Given the description of an element on the screen output the (x, y) to click on. 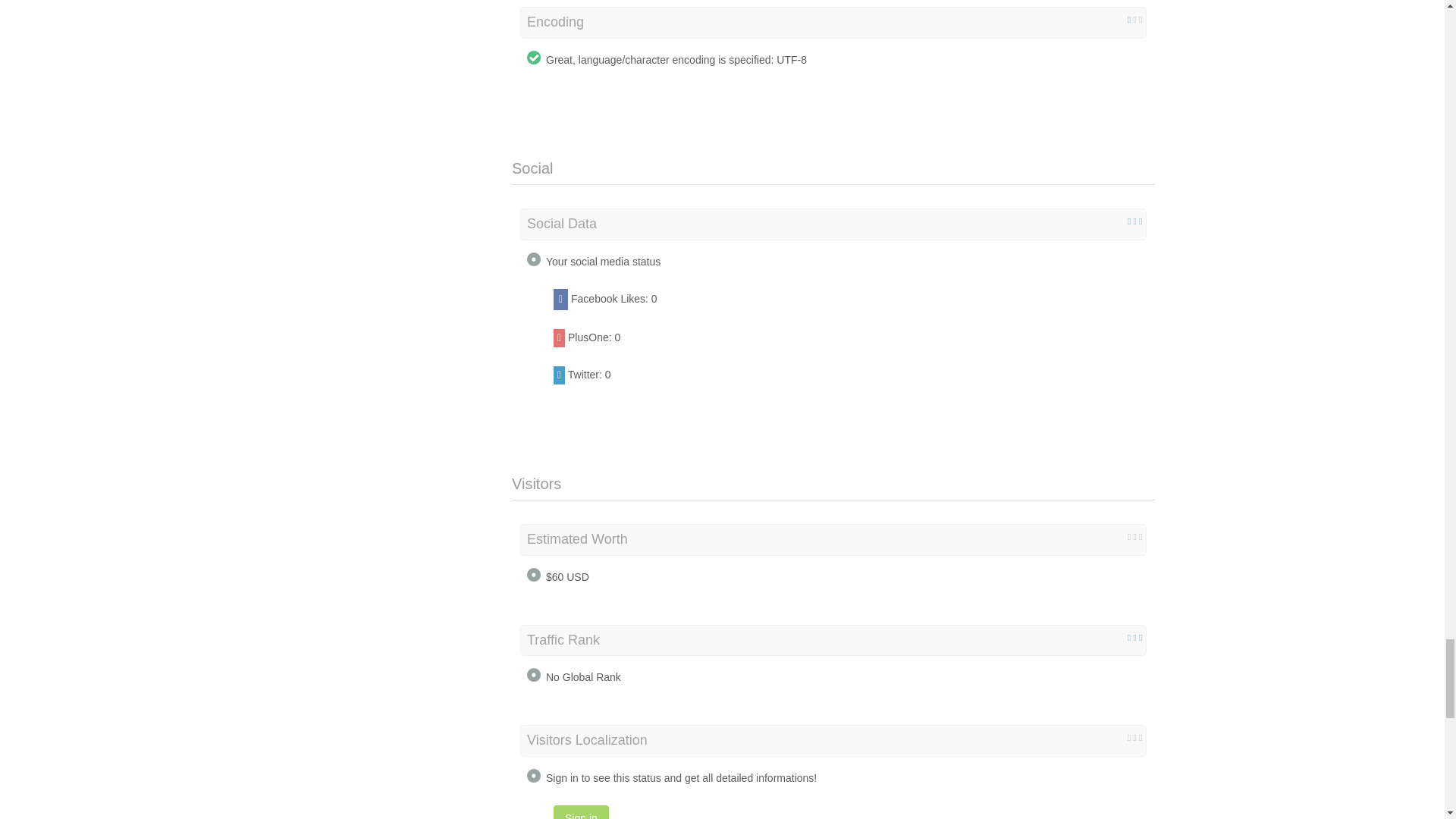
Sign in (580, 812)
